Given the description of an element on the screen output the (x, y) to click on. 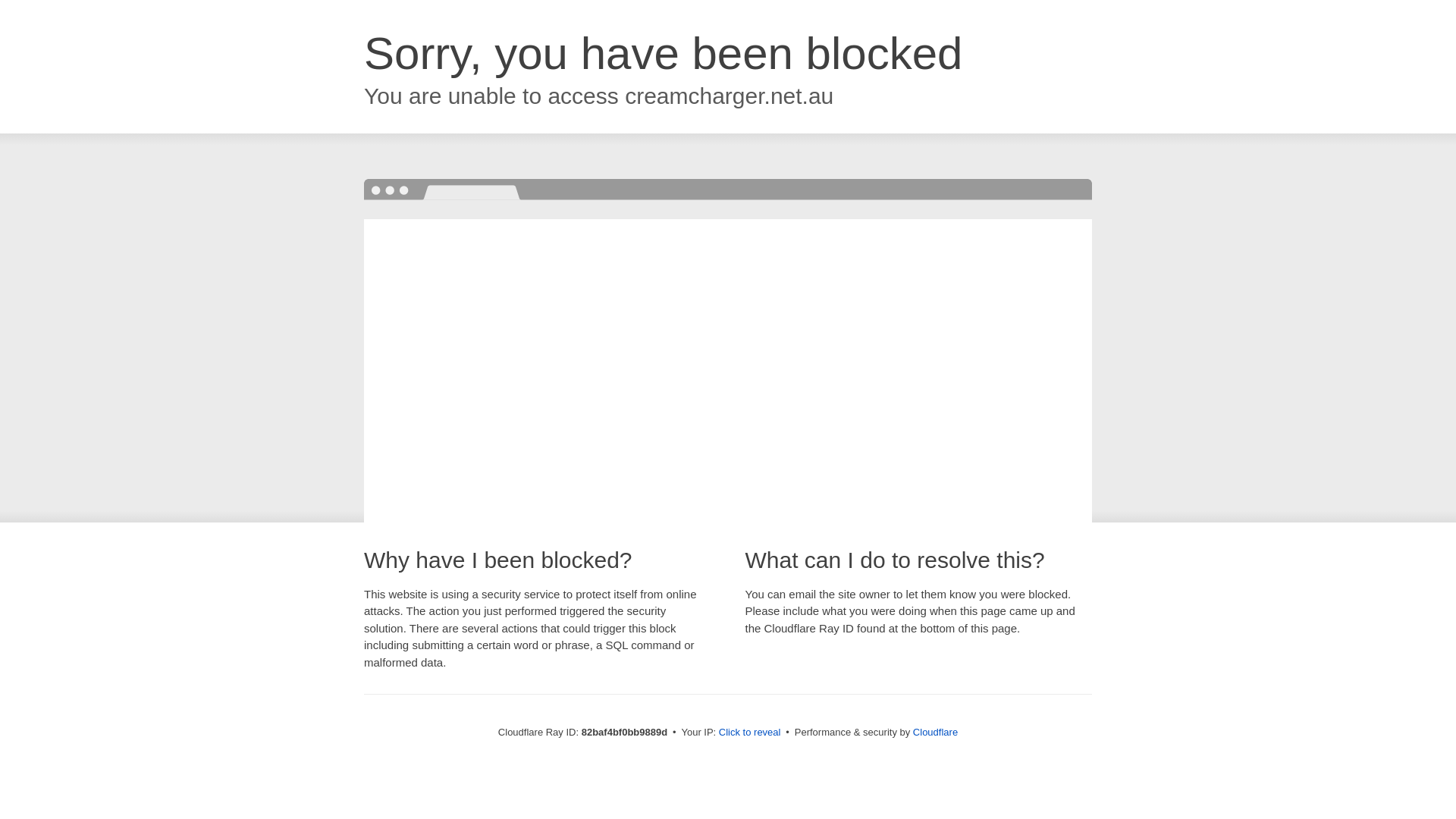
Click to reveal Element type: text (749, 732)
Cloudflare Element type: text (935, 731)
